Given the description of an element on the screen output the (x, y) to click on. 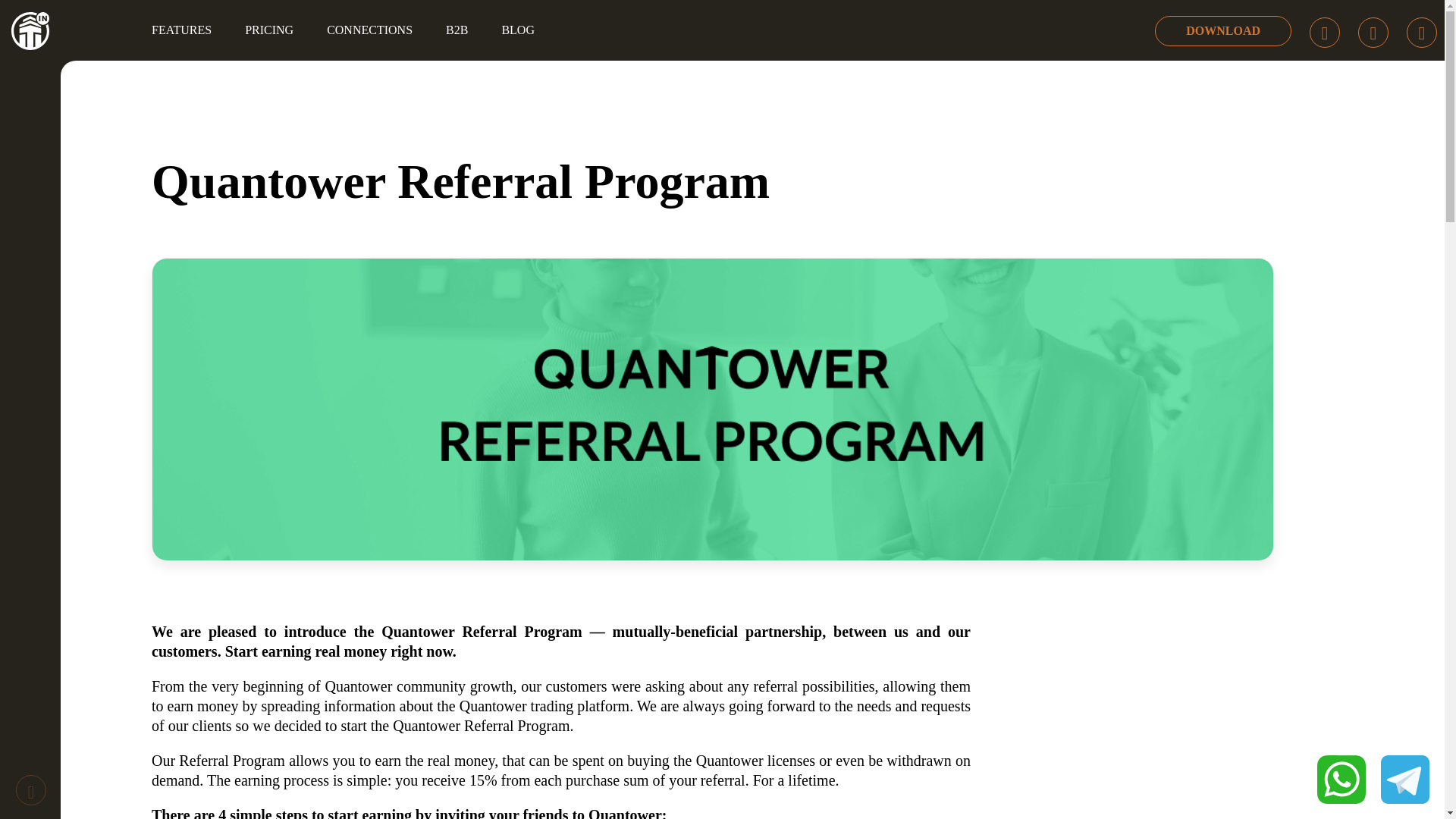
B2B (456, 29)
Quantower account (1373, 32)
Quantower documentation (1421, 32)
Download Quantower (1222, 30)
Click to contact us via Telegram (1404, 779)
BLOG (518, 29)
DOWNLOAD (1222, 30)
Open live chat with Quantower (1323, 32)
PRICING (269, 29)
Click to contact us via WhatsApp (1341, 779)
FEATURES (181, 29)
CONNECTIONS (369, 29)
